Given the description of an element on the screen output the (x, y) to click on. 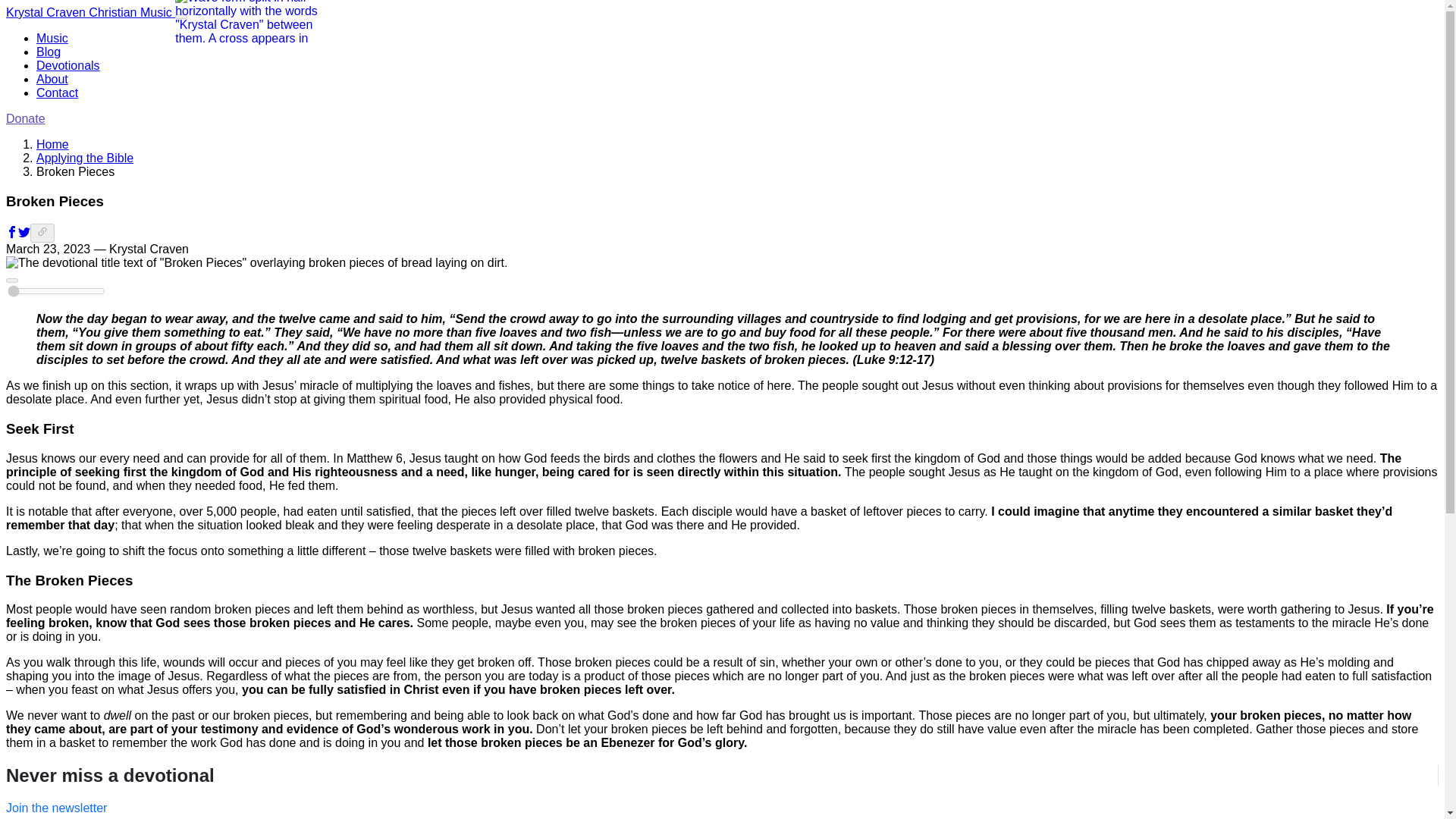
Home (52, 144)
Music (52, 38)
About (52, 78)
Blog (48, 51)
Applying the Bible (84, 157)
Donate (25, 118)
Contact (57, 92)
Devotionals (68, 65)
Krystal Craven Christian Music (89, 11)
